Given the description of an element on the screen output the (x, y) to click on. 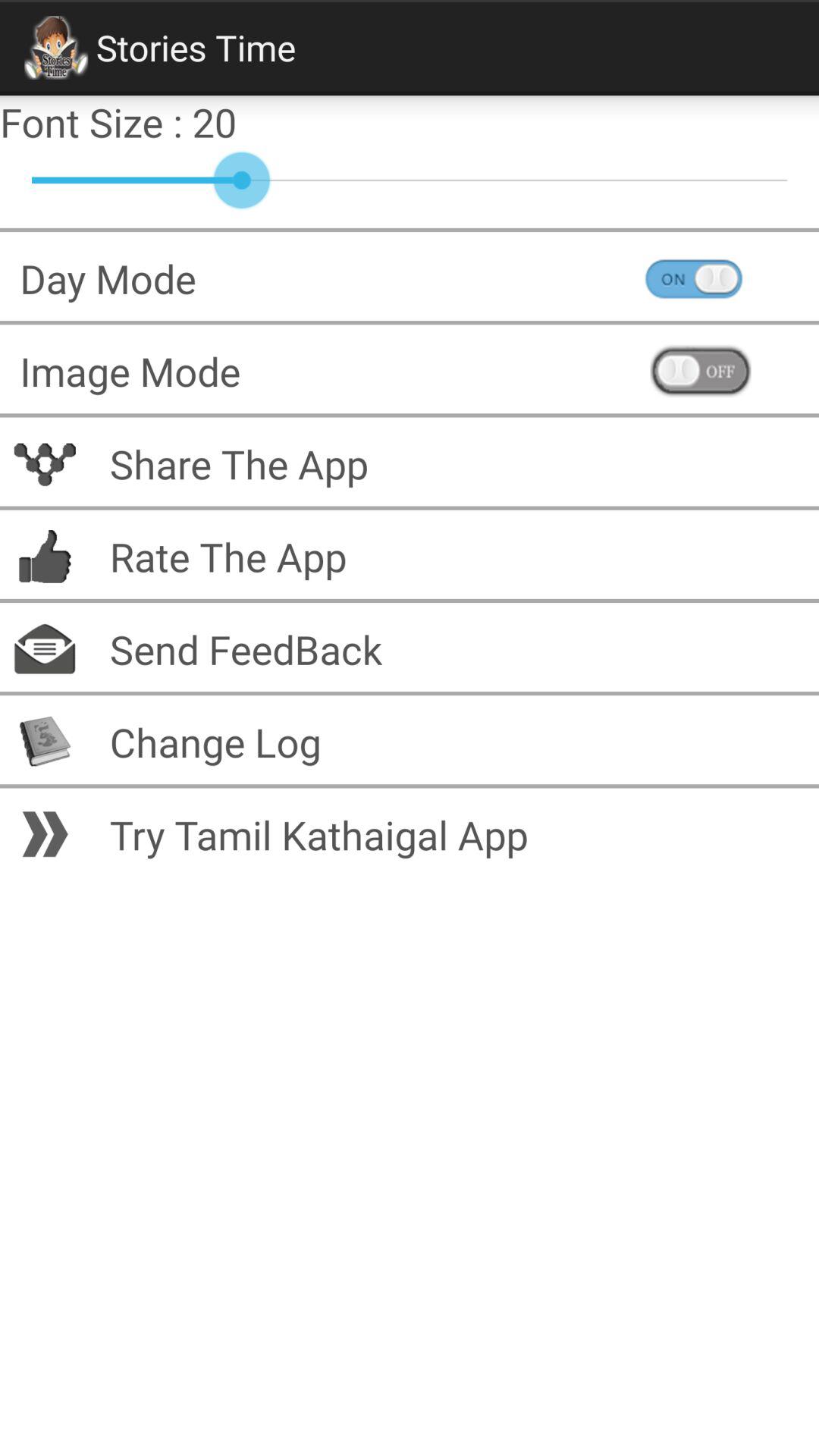
jump to the send feedback (235, 648)
